Given the description of an element on the screen output the (x, y) to click on. 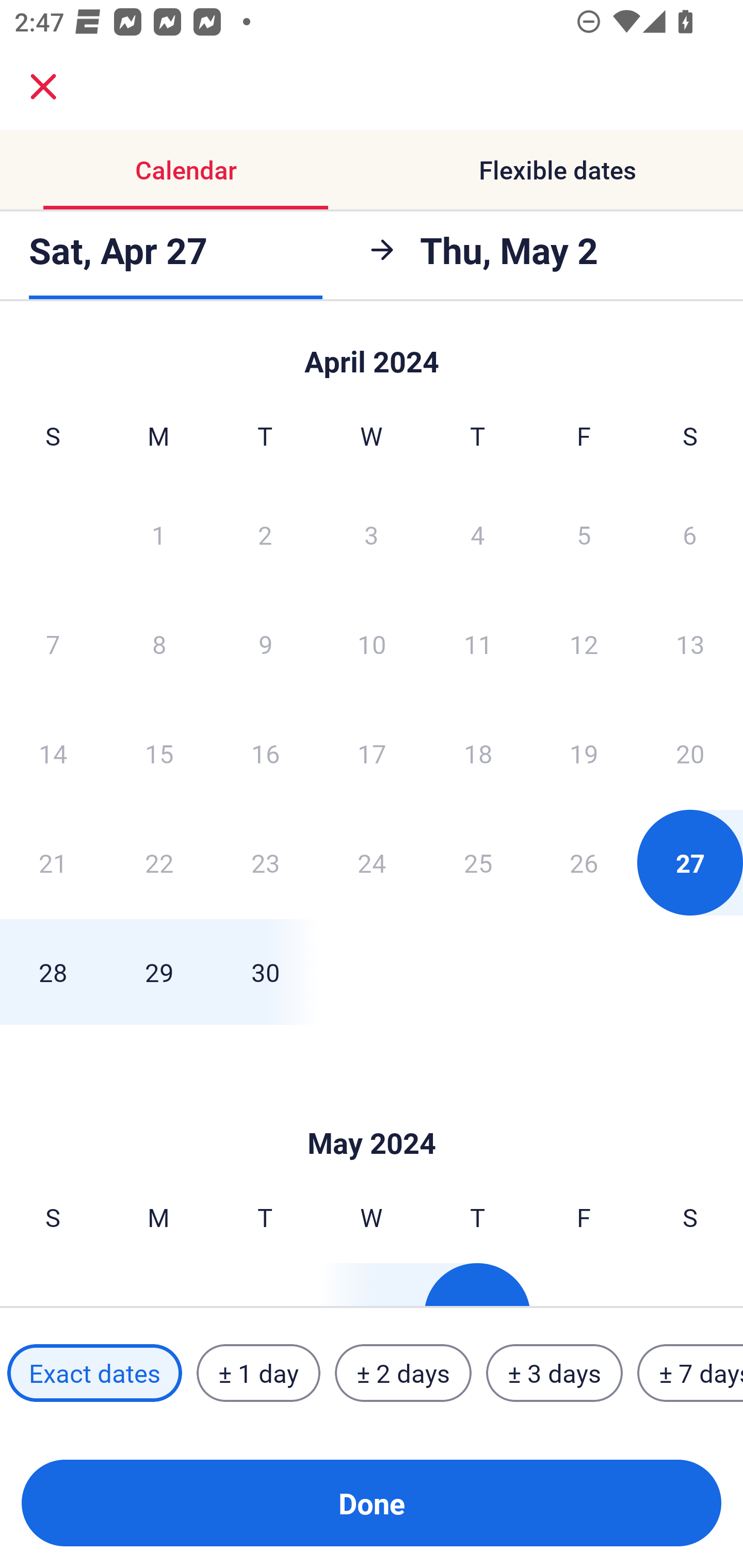
close. (43, 86)
Flexible dates (557, 170)
Skip to Done (371, 352)
1 Monday, April 1, 2024 (158, 534)
2 Tuesday, April 2, 2024 (264, 534)
3 Wednesday, April 3, 2024 (371, 534)
4 Thursday, April 4, 2024 (477, 534)
5 Friday, April 5, 2024 (583, 534)
6 Saturday, April 6, 2024 (689, 534)
7 Sunday, April 7, 2024 (53, 643)
8 Monday, April 8, 2024 (159, 643)
9 Tuesday, April 9, 2024 (265, 643)
10 Wednesday, April 10, 2024 (371, 643)
11 Thursday, April 11, 2024 (477, 643)
12 Friday, April 12, 2024 (584, 643)
13 Saturday, April 13, 2024 (690, 643)
14 Sunday, April 14, 2024 (53, 752)
15 Monday, April 15, 2024 (159, 752)
16 Tuesday, April 16, 2024 (265, 752)
17 Wednesday, April 17, 2024 (371, 752)
18 Thursday, April 18, 2024 (477, 752)
19 Friday, April 19, 2024 (584, 752)
20 Saturday, April 20, 2024 (690, 752)
21 Sunday, April 21, 2024 (53, 862)
22 Monday, April 22, 2024 (159, 862)
23 Tuesday, April 23, 2024 (265, 862)
24 Wednesday, April 24, 2024 (371, 862)
25 Thursday, April 25, 2024 (477, 862)
26 Friday, April 26, 2024 (584, 862)
Skip to Done (371, 1112)
Exact dates (94, 1372)
± 1 day (258, 1372)
± 2 days (403, 1372)
± 3 days (553, 1372)
± 7 days (690, 1372)
Done (371, 1502)
